Given the description of an element on the screen output the (x, y) to click on. 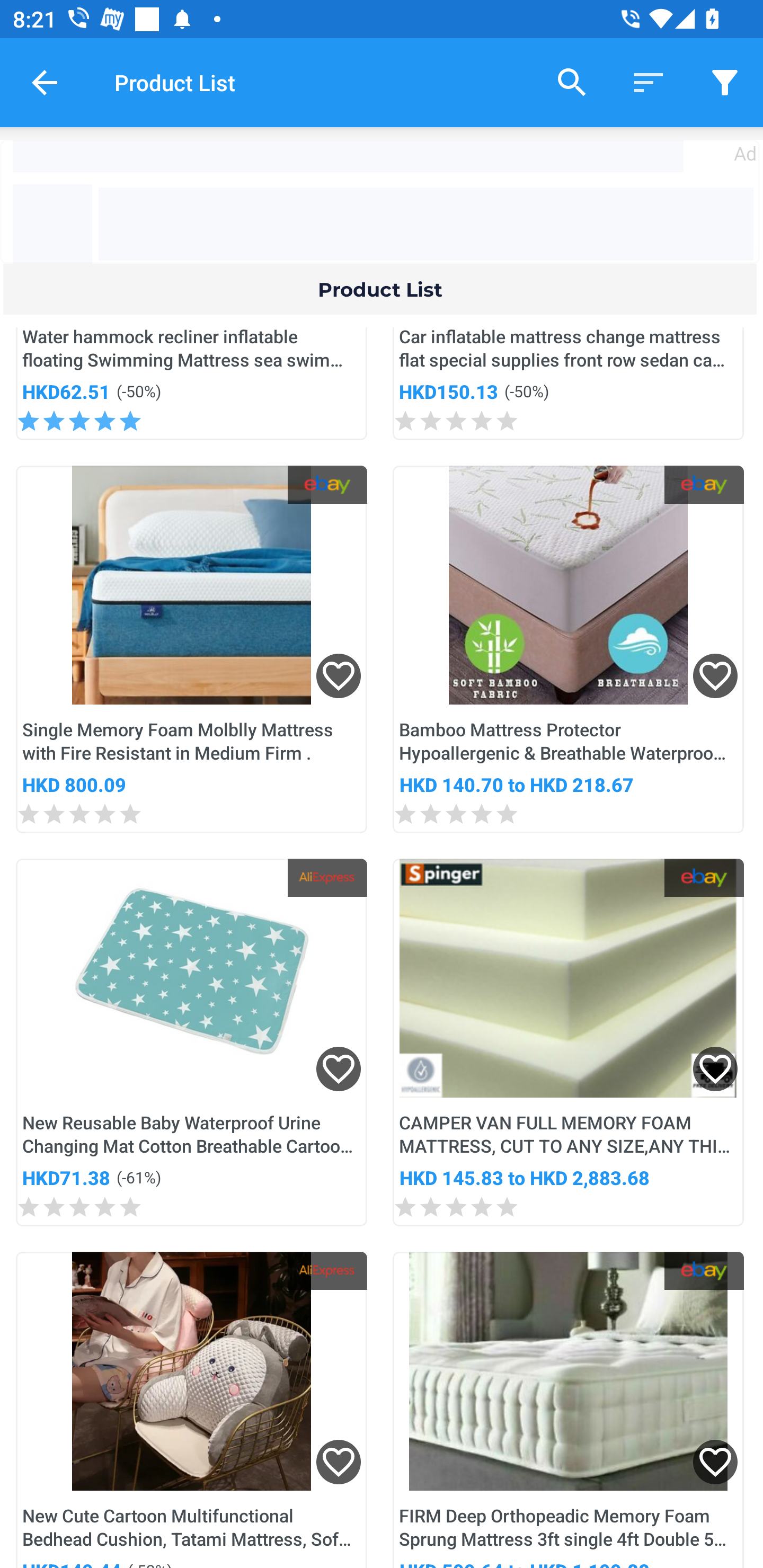
Navigate up (44, 82)
Search (572, 81)
short (648, 81)
short (724, 81)
